Given the description of an element on the screen output the (x, y) to click on. 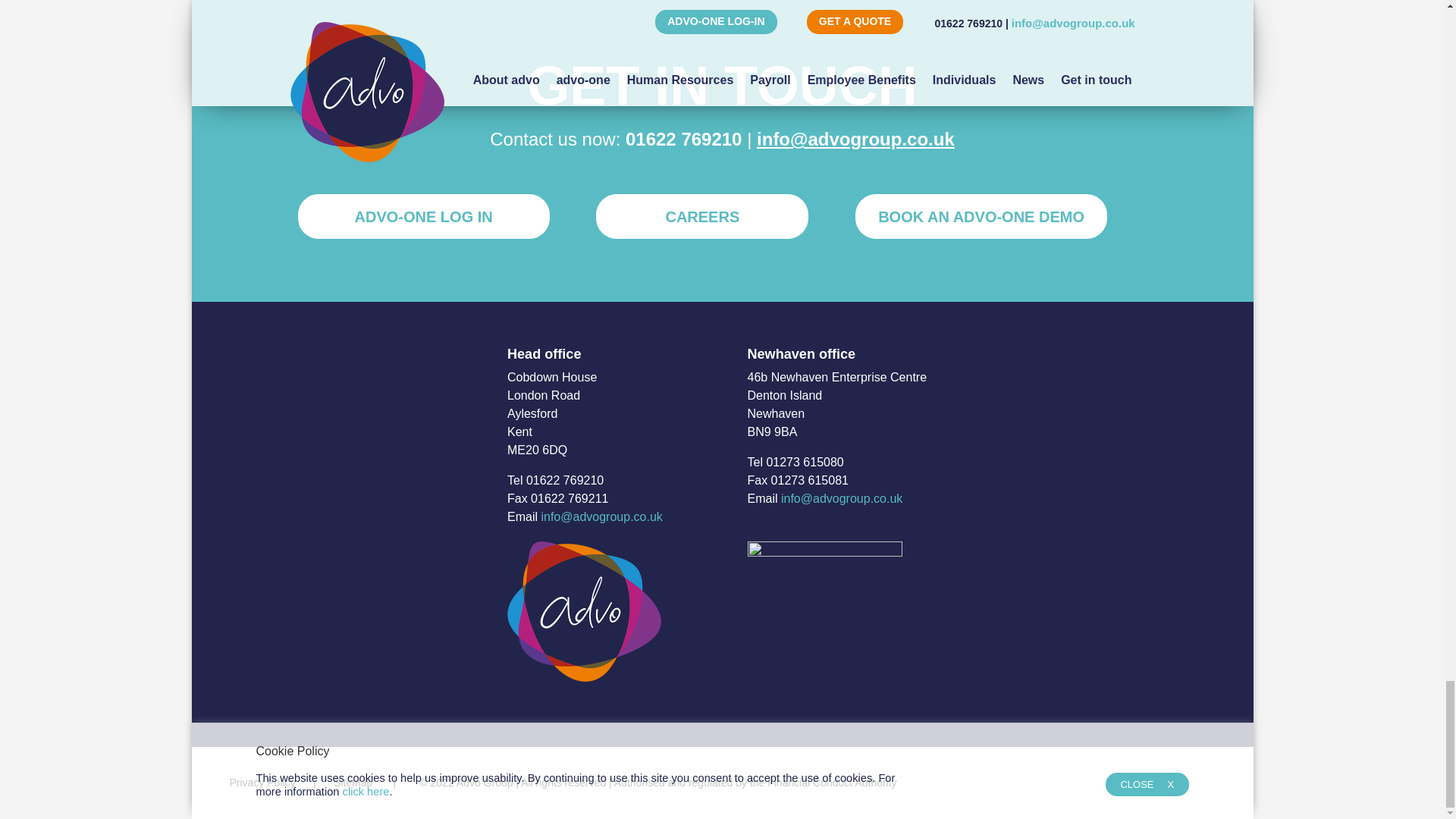
advo-one-logo (825, 611)
advo-logo (584, 611)
